Given the description of an element on the screen output the (x, y) to click on. 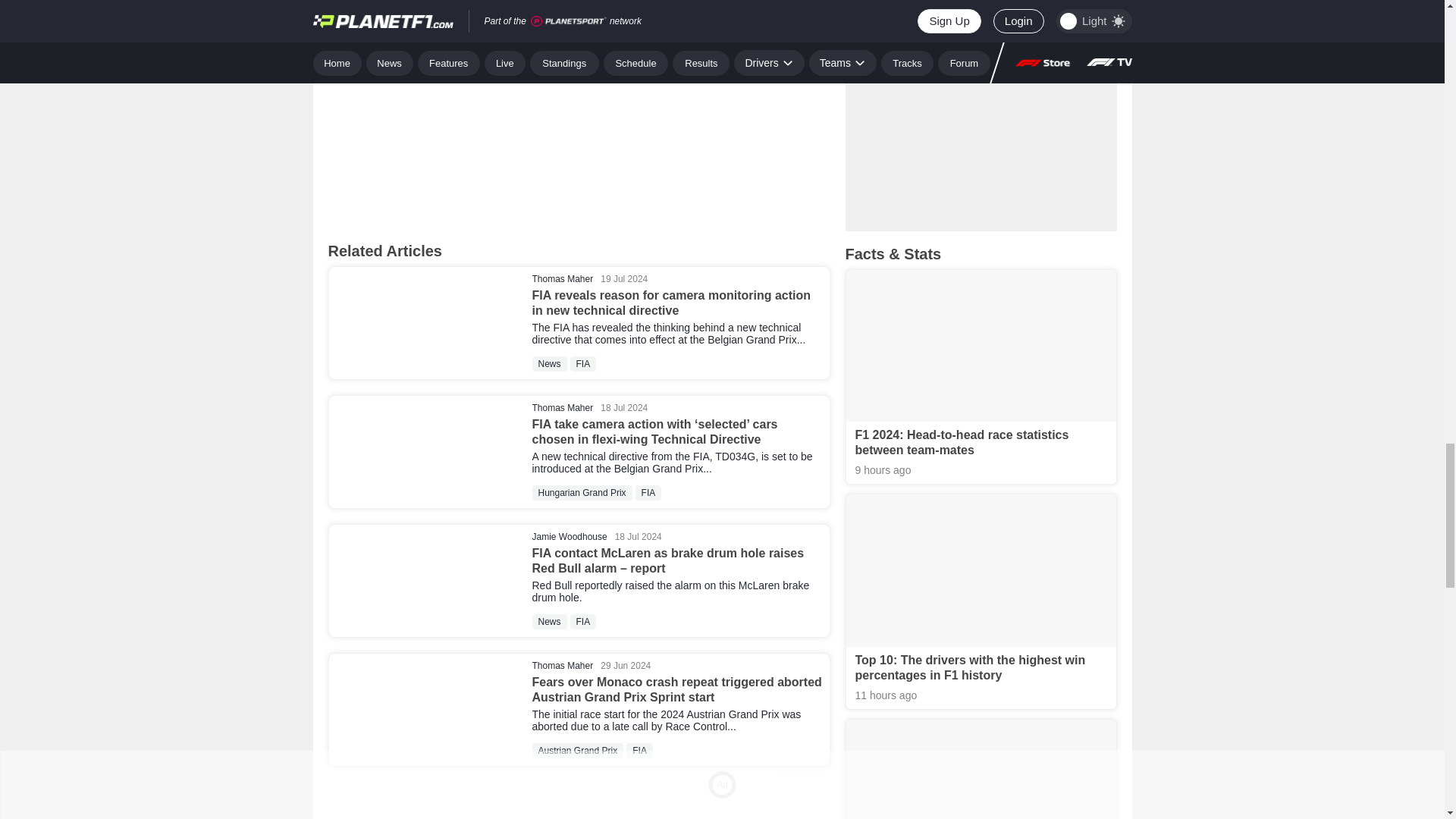
Vuukle Comments Widget (578, 114)
